Given the description of an element on the screen output the (x, y) to click on. 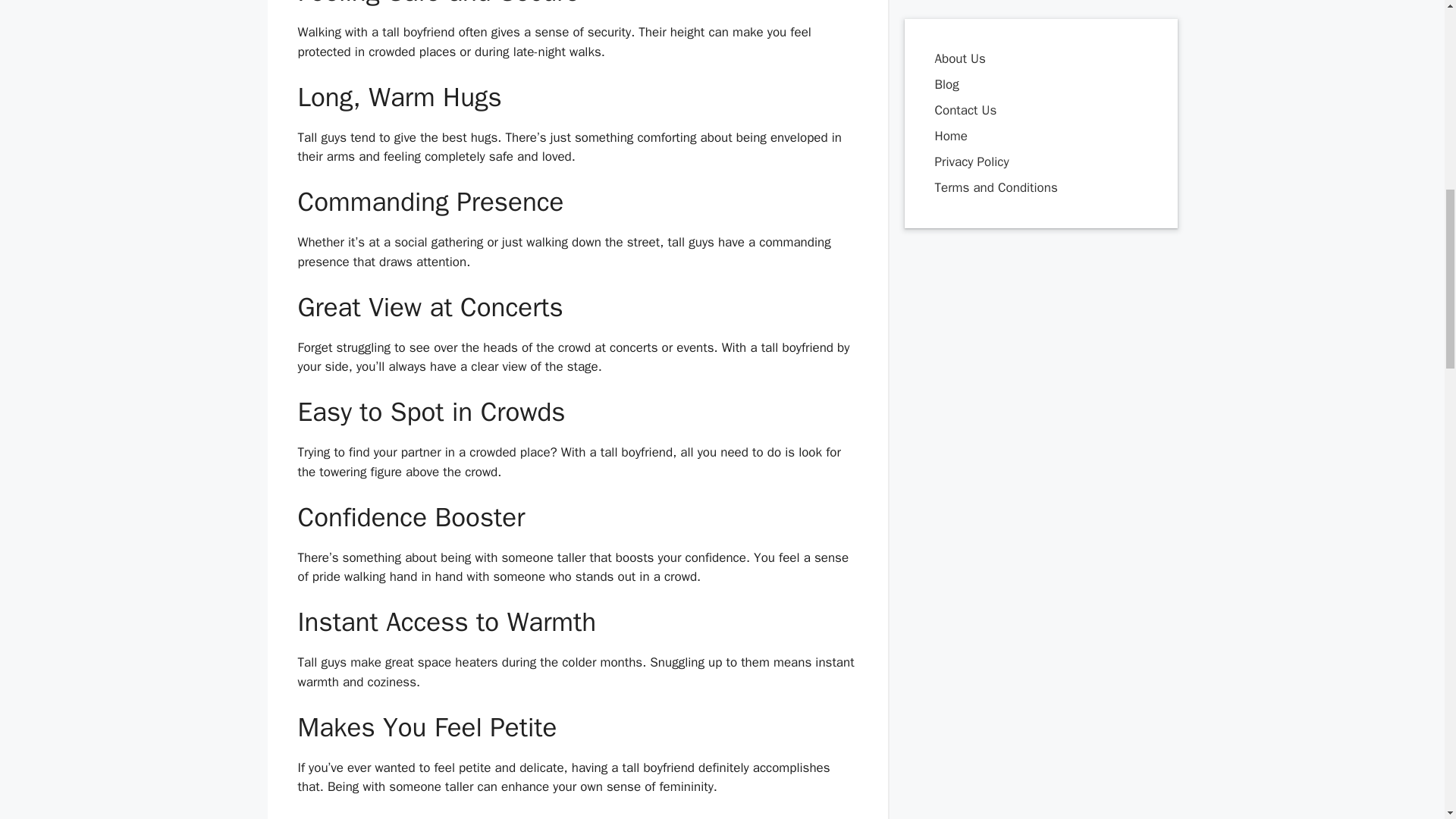
Terms and Conditions (995, 37)
Privacy Policy (971, 12)
